Given the description of an element on the screen output the (x, y) to click on. 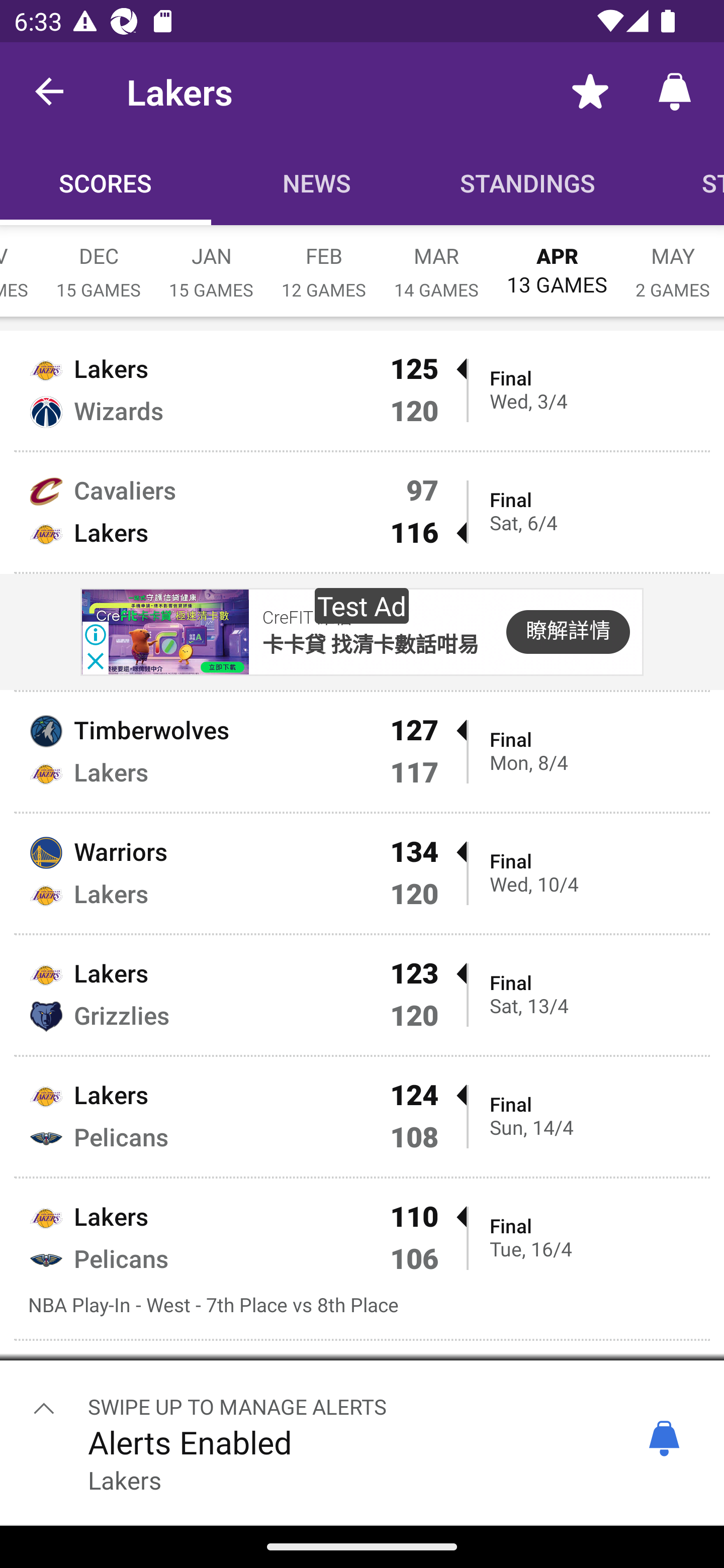
back.button (49, 90)
Favorite toggle (590, 90)
Alerts (674, 90)
News NEWS (316, 183)
Standings STANDINGS (527, 183)
DEC 15 GAMES (97, 262)
JAN 15 GAMES (210, 262)
FEB 12 GAMES (323, 262)
MAR 14 GAMES (436, 262)
APR 13 GAMES (557, 261)
MAY 2 GAMES (672, 262)
Lakers 125  Wizards 120 Final Wed, 3/4 (362, 390)
Cavaliers 97 Lakers 116  Final Sat, 6/4 (362, 511)
details%3Fid%3Dcom.vhk (164, 631)
CreFIT 維信 (307, 618)
瞭解詳情 (567, 631)
卡卡貸 找清卡數話咁易 (370, 644)
Timberwolves 127  Lakers 117 Final Mon, 8/4 (362, 751)
Warriors 134  Lakers 120 Final Wed, 10/4 (362, 872)
Lakers 123  Grizzlies 120 Final Sat, 13/4 (362, 994)
Lakers 124  Pelicans 108 Final Sun, 14/4 (362, 1116)
 (44, 1407)
